Given the description of an element on the screen output the (x, y) to click on. 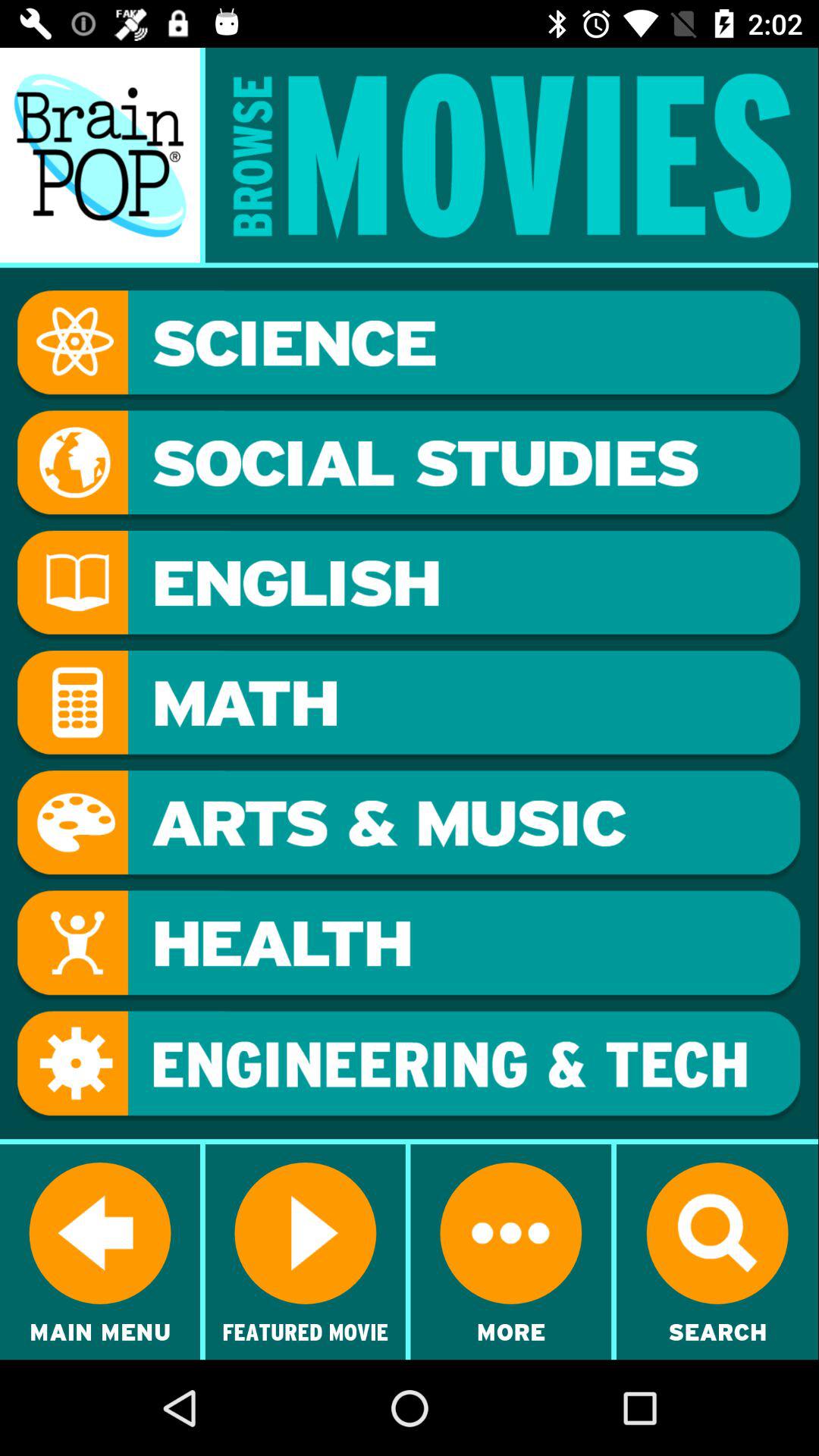
health movies (408, 945)
